Given the description of an element on the screen output the (x, y) to click on. 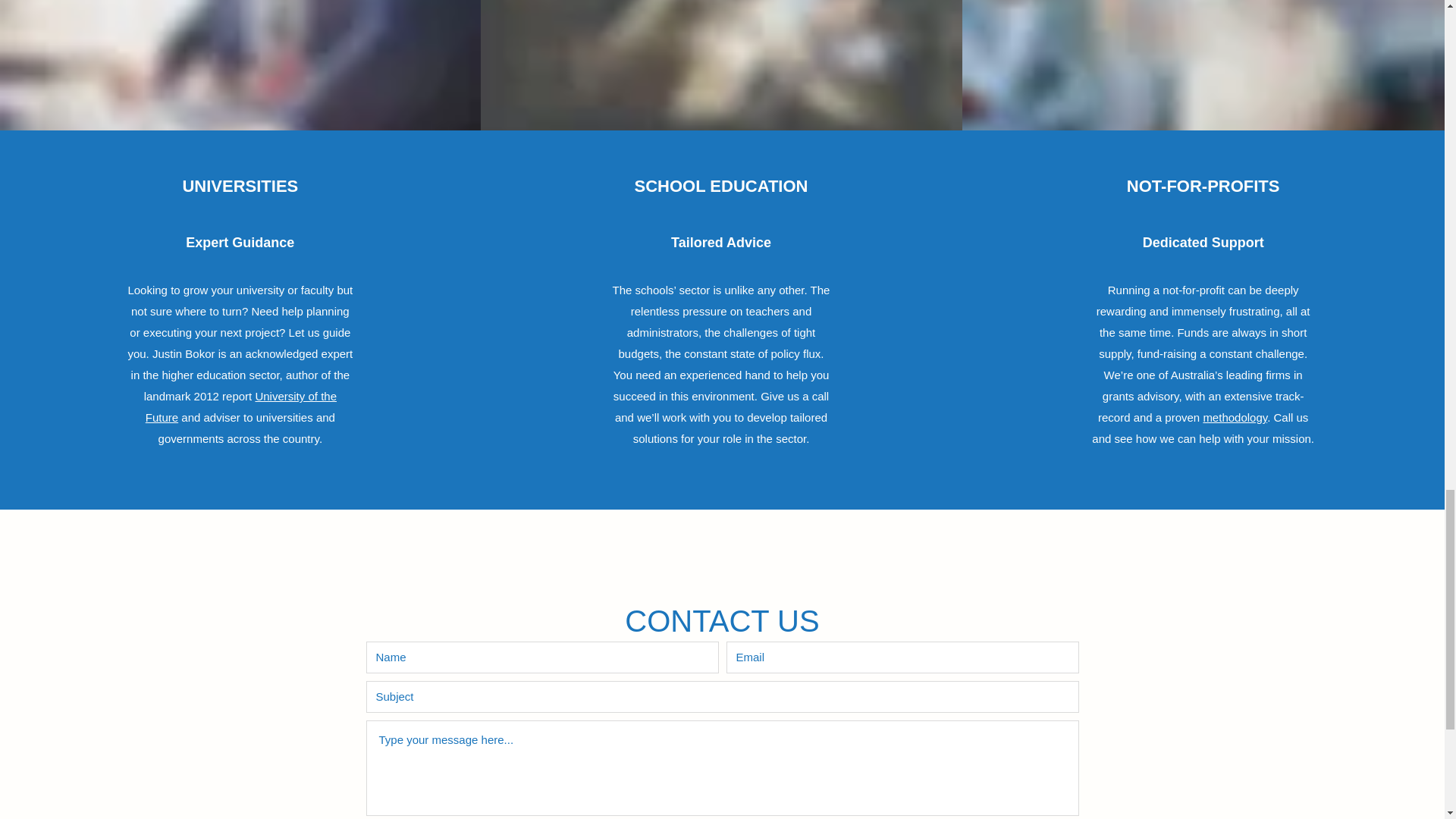
University of the Future (240, 406)
methodology (1234, 417)
